Given the description of an element on the screen output the (x, y) to click on. 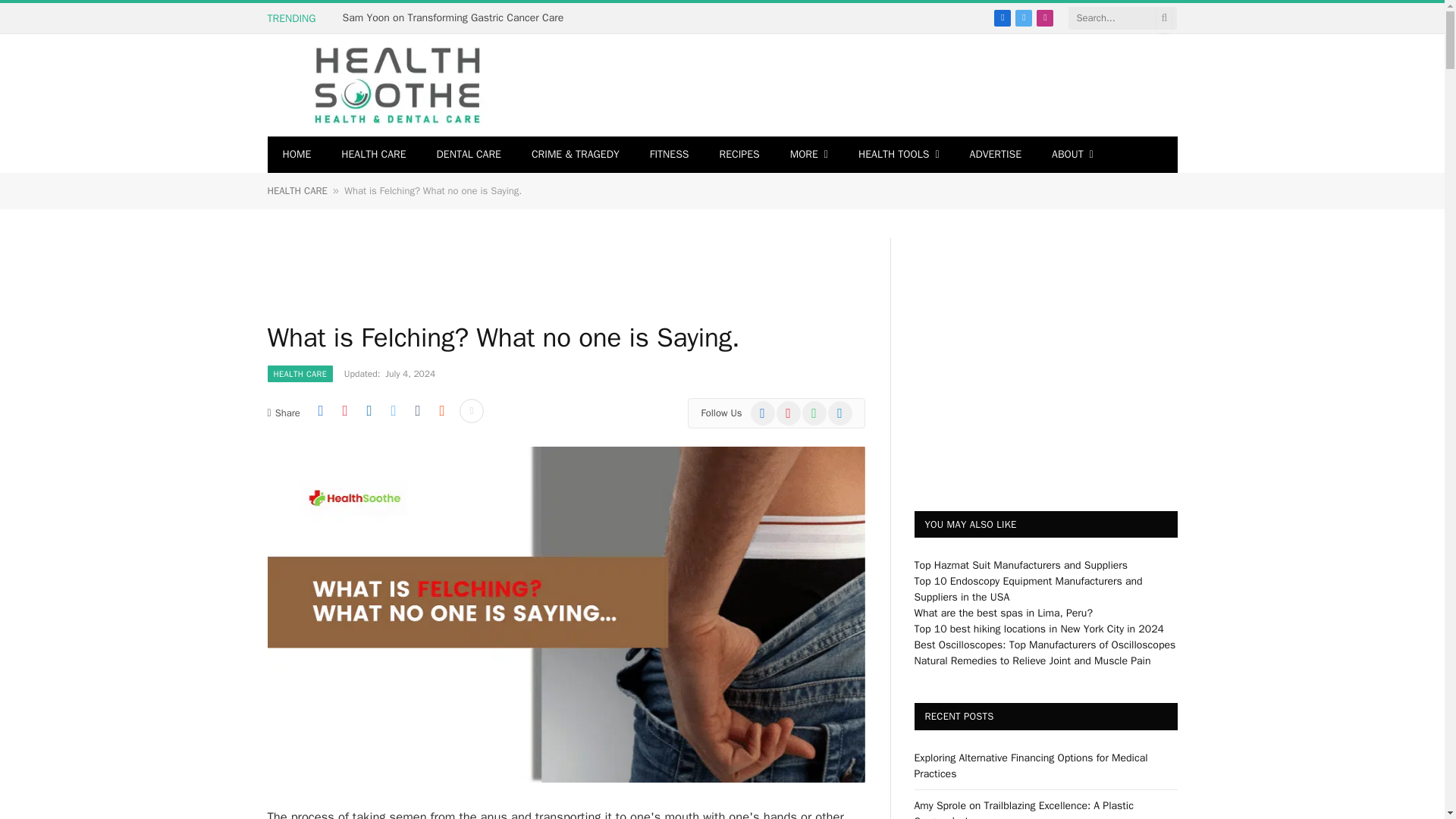
Share on LinkedIn (369, 410)
Facebook (1002, 17)
Instagram (1044, 17)
Share on Tumblr (417, 410)
Show More Social Sharing (471, 410)
Healthsoothe (396, 85)
Share on Pinterest (344, 410)
Share on Reddit (441, 410)
Advertisement (542, 272)
Share on Facebook (319, 410)
Sam Yoon on Transforming Gastric Cancer Care (457, 18)
